Given the description of an element on the screen output the (x, y) to click on. 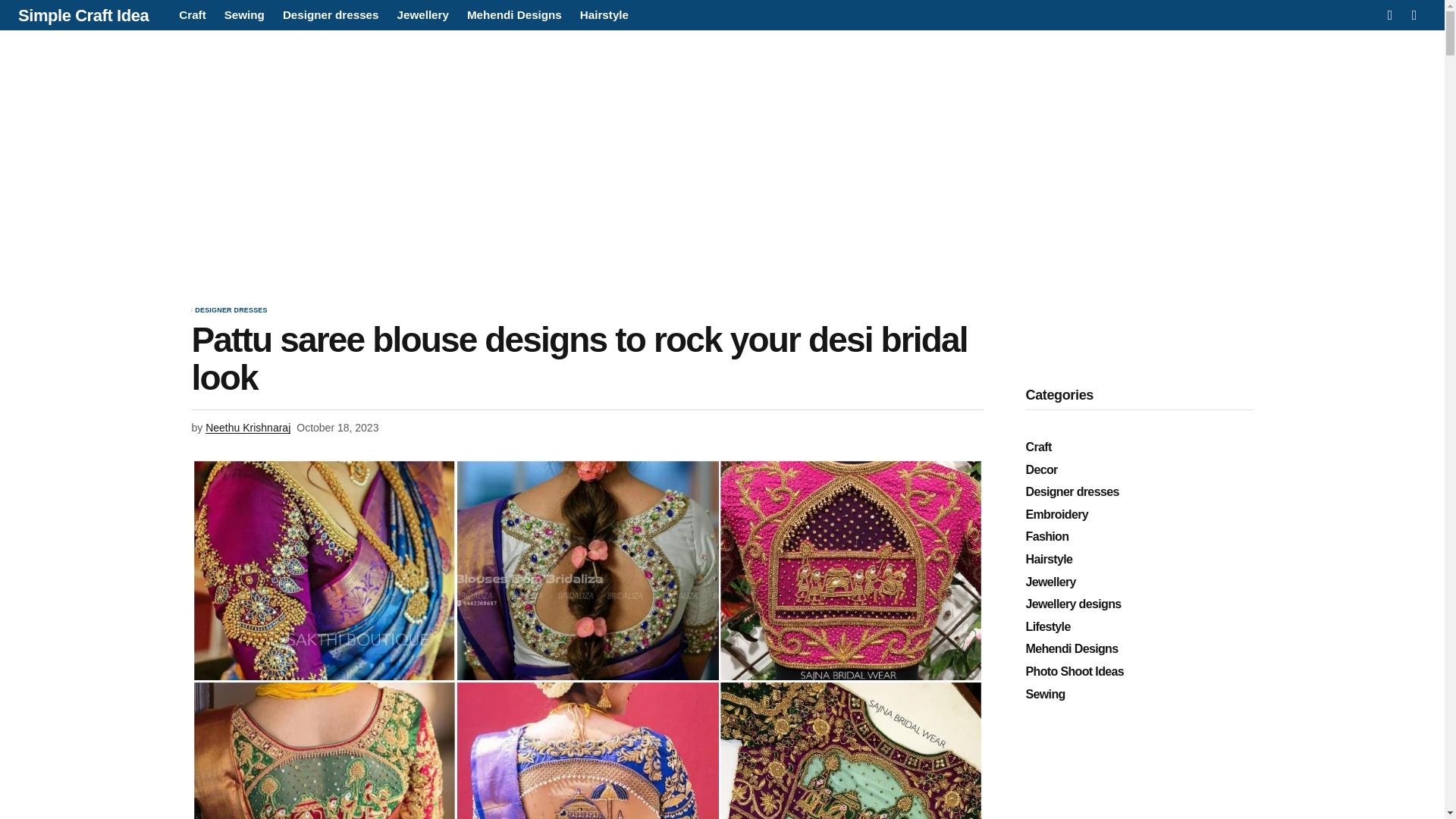
DESIGNER DRESSES (230, 310)
Jewellery (423, 15)
Designer dresses (1138, 491)
Hairstyle (603, 15)
Decor (1138, 469)
Sewing (244, 15)
Mehendi Designs (514, 15)
Designer dresses (330, 15)
Neethu Krishnaraj (247, 428)
